Given the description of an element on the screen output the (x, y) to click on. 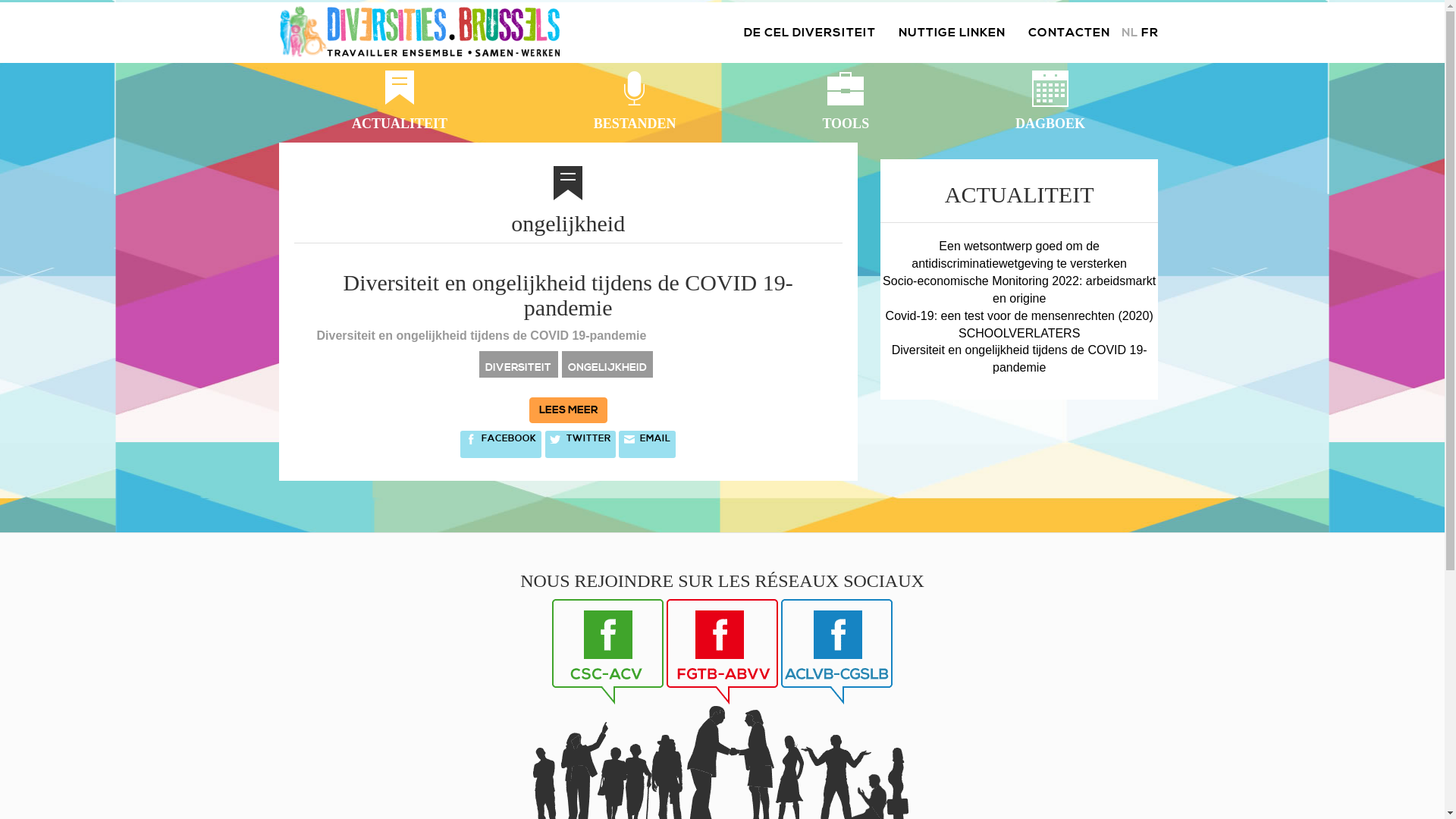
ONGELIJKHEID Element type: text (606, 366)
SCHOOLVERLATERS Element type: text (1018, 332)
CONTACTEN Element type: text (1068, 32)
DE CEL DIVERSITEIT Element type: text (809, 32)
FR Element type: text (1148, 32)
ACTUALITEIT Element type: text (399, 101)
  EMAIL Element type: text (646, 444)
Home Element type: hover (425, 32)
NUTTIGE LINKEN Element type: text (951, 32)
BESTANDEN Element type: text (634, 101)
Diversiteit en ongelijkheid tijdens de COVID 19-pandemie Element type: text (568, 294)
Covid-19: een test voor de mensenrechten (2020) Element type: text (1019, 315)
  TWITTER Element type: text (580, 444)
LEES MEER Element type: text (568, 410)
DIVERSITEIT Element type: text (518, 366)
TOOLS Element type: text (845, 101)
Socio-economische Monitoring 2022: arbeidsmarkt en origine Element type: text (1018, 289)
  FACEBOOK Element type: text (500, 444)
Diversiteit en ongelijkheid tijdens de COVID 19-pandemie Element type: text (1019, 358)
DAGBOEK Element type: text (1050, 101)
Overslaan en naar de inhoud gaan Element type: text (880, 159)
NL Element type: text (1128, 32)
